Given the description of an element on the screen output the (x, y) to click on. 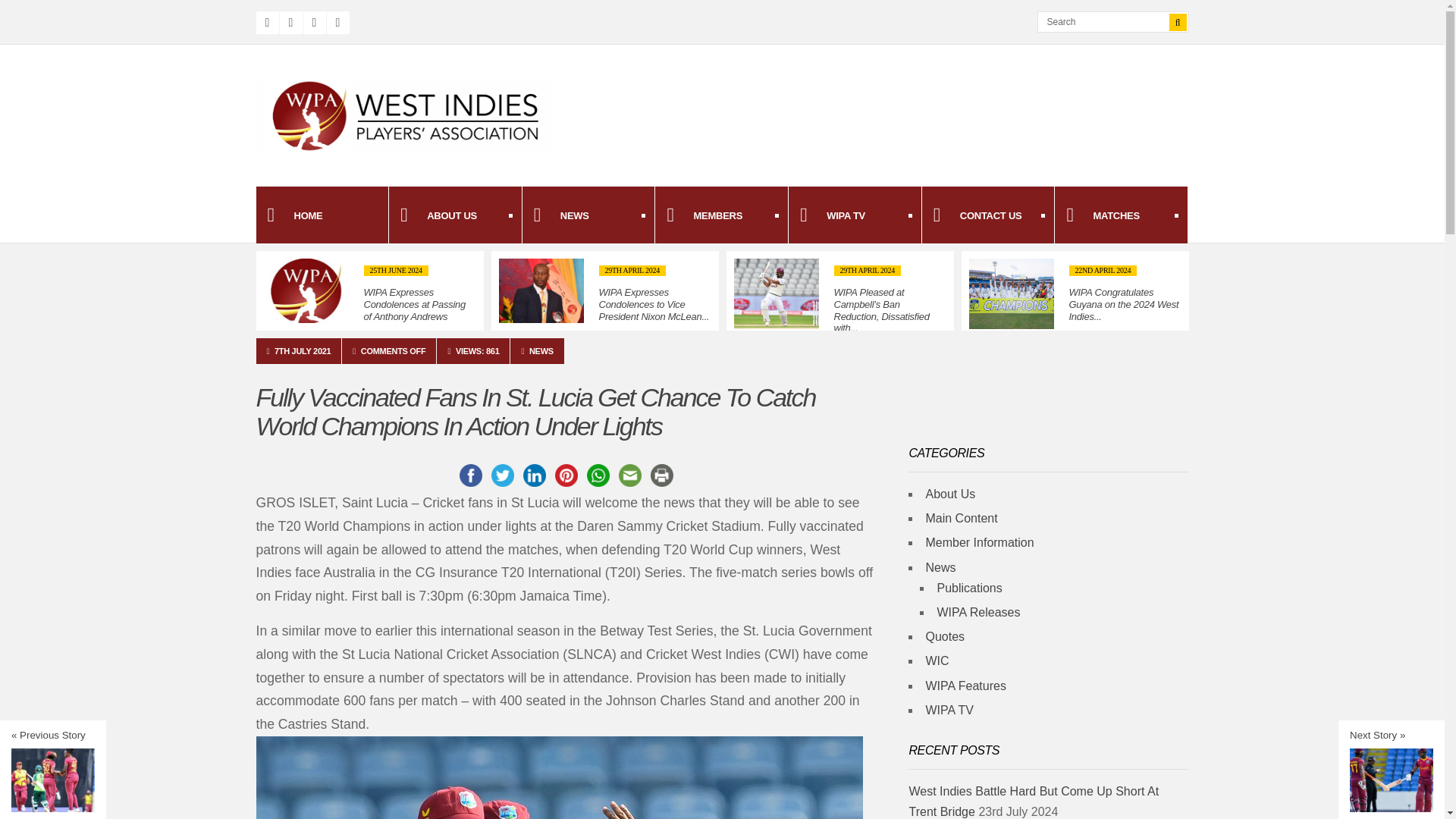
print (662, 475)
email (630, 475)
Instagram (314, 22)
pinterest (566, 475)
Search (1107, 21)
twitter (502, 475)
facebook (470, 475)
whatsapp (598, 475)
HOME (322, 214)
Twitter (290, 22)
You Tube (337, 22)
linkedin (534, 475)
Facebook (267, 22)
